Given the description of an element on the screen output the (x, y) to click on. 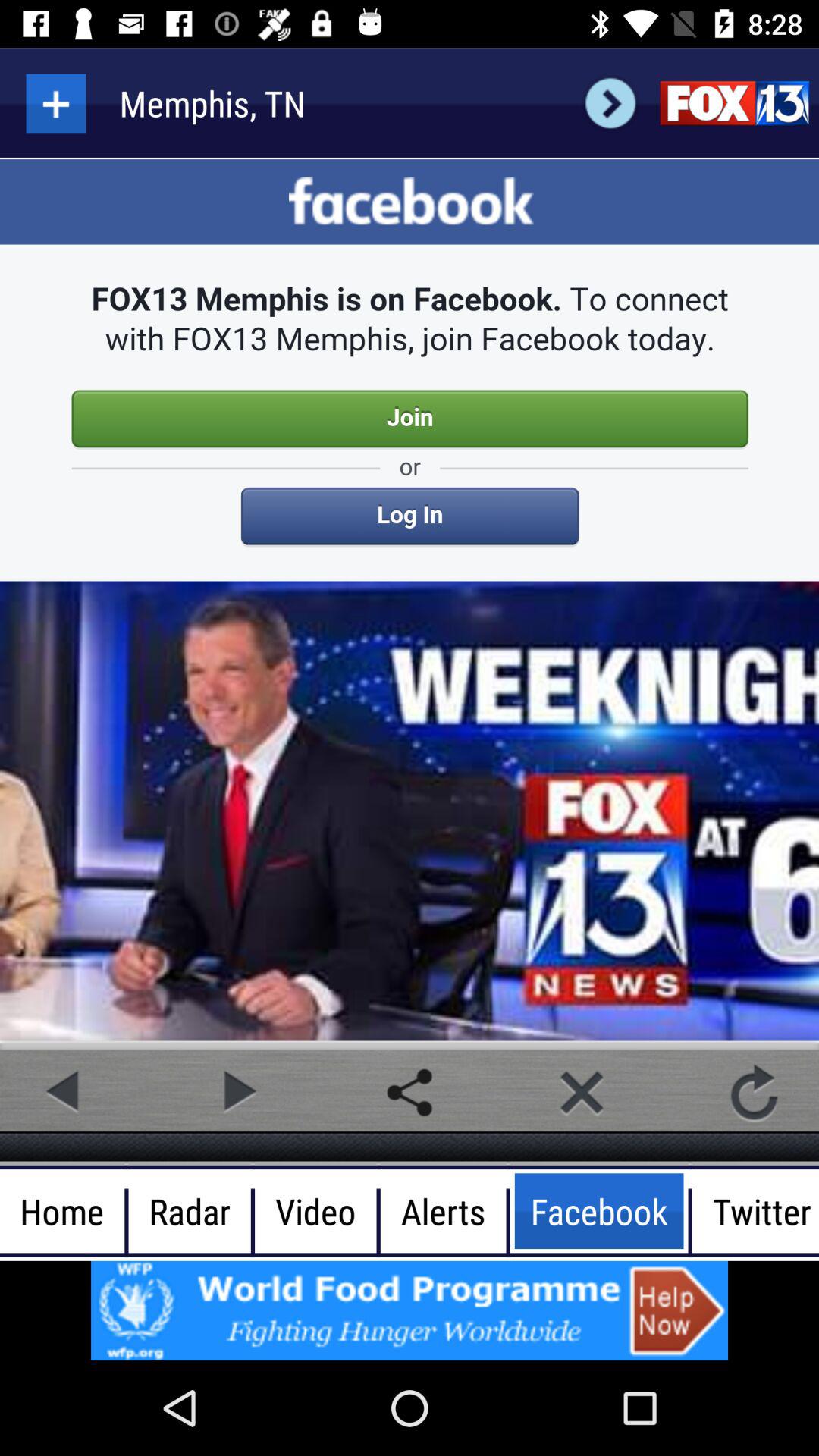
click to more options (55, 103)
